Given the description of an element on the screen output the (x, y) to click on. 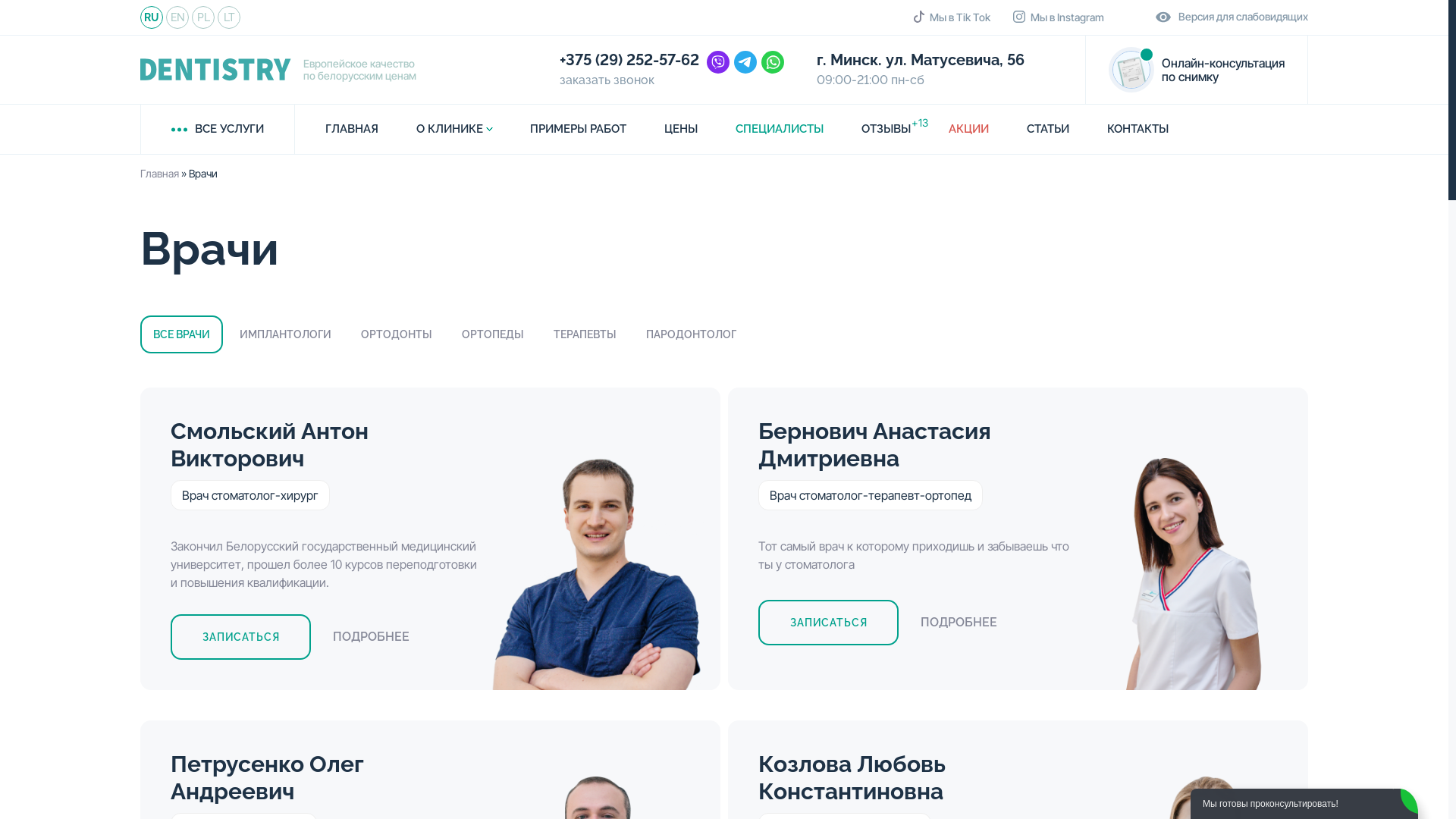
LT Element type: text (228, 17)
PL Element type: text (202, 17)
RU Element type: text (151, 17)
EN Element type: text (177, 17)
+375 (29) 252-57-62 Element type: text (629, 60)
